Given the description of an element on the screen output the (x, y) to click on. 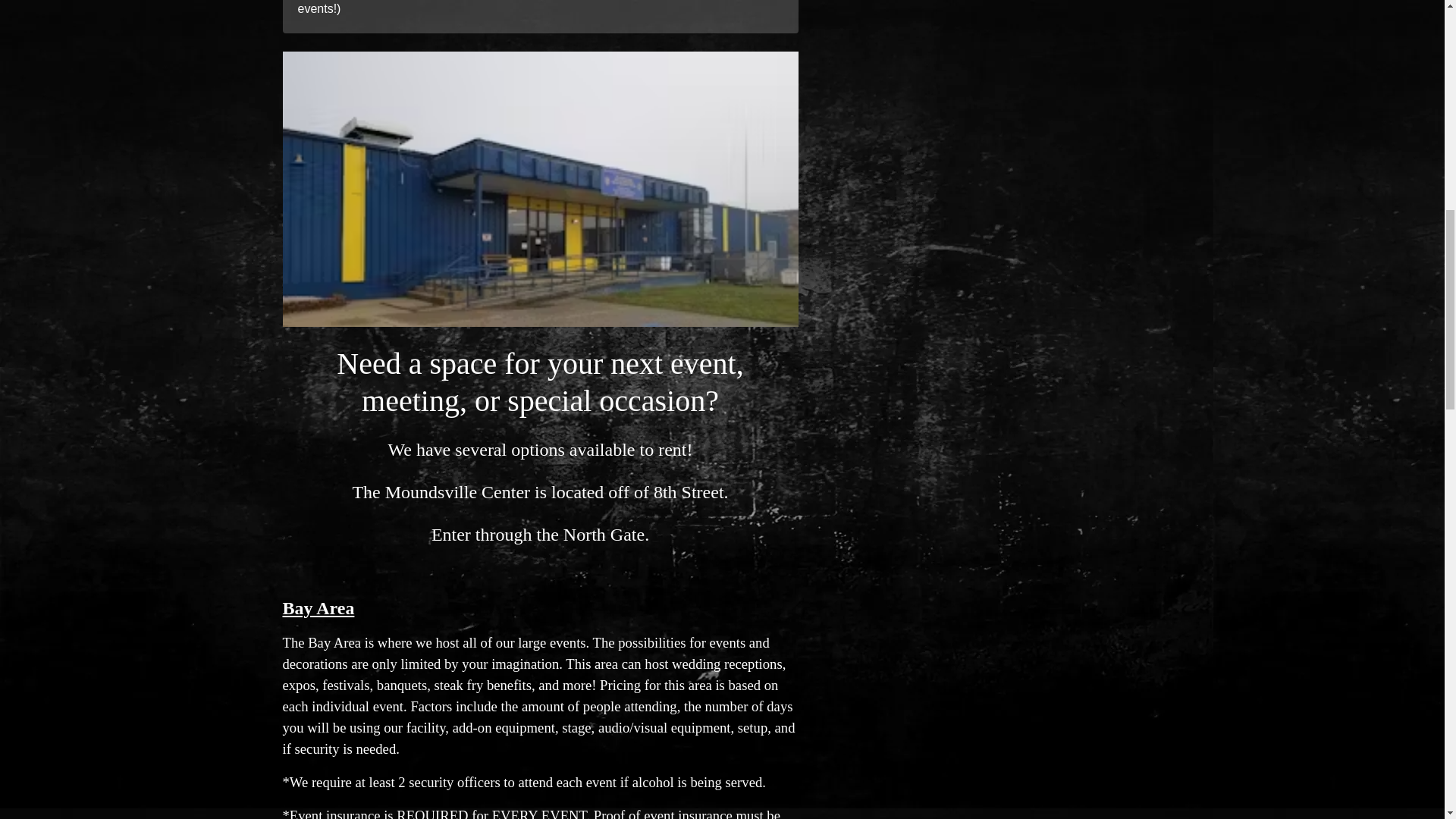
FareHarbor (1342, 64)
